Given the description of an element on the screen output the (x, y) to click on. 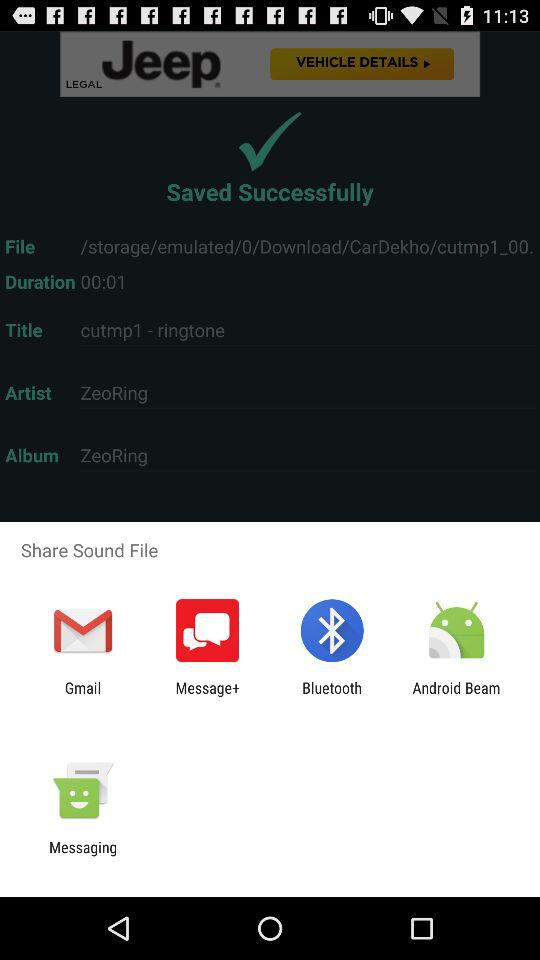
open app to the right of the message+ icon (331, 696)
